Given the description of an element on the screen output the (x, y) to click on. 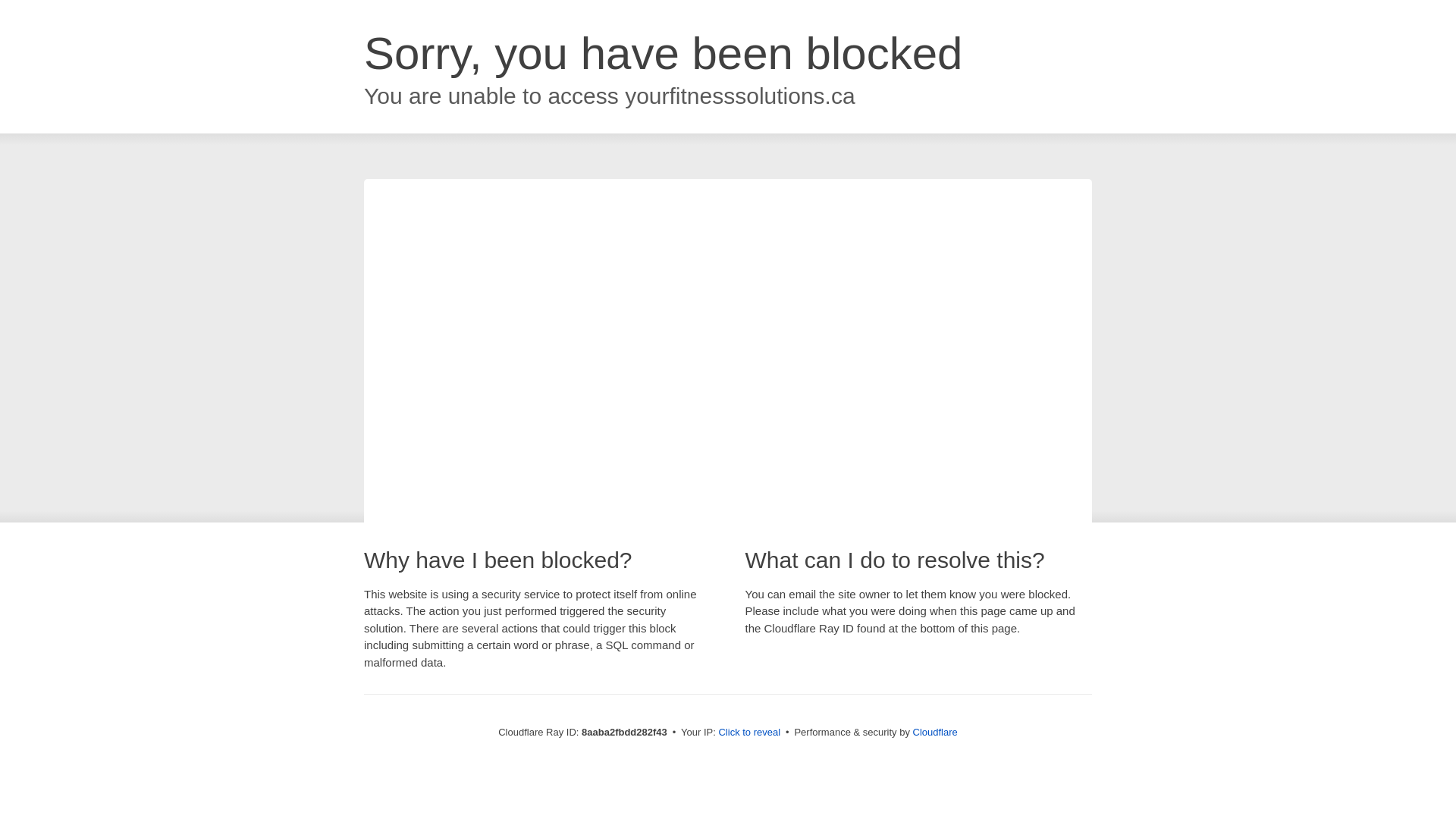
Cloudflare (935, 731)
Click to reveal (748, 732)
